Given the description of an element on the screen output the (x, y) to click on. 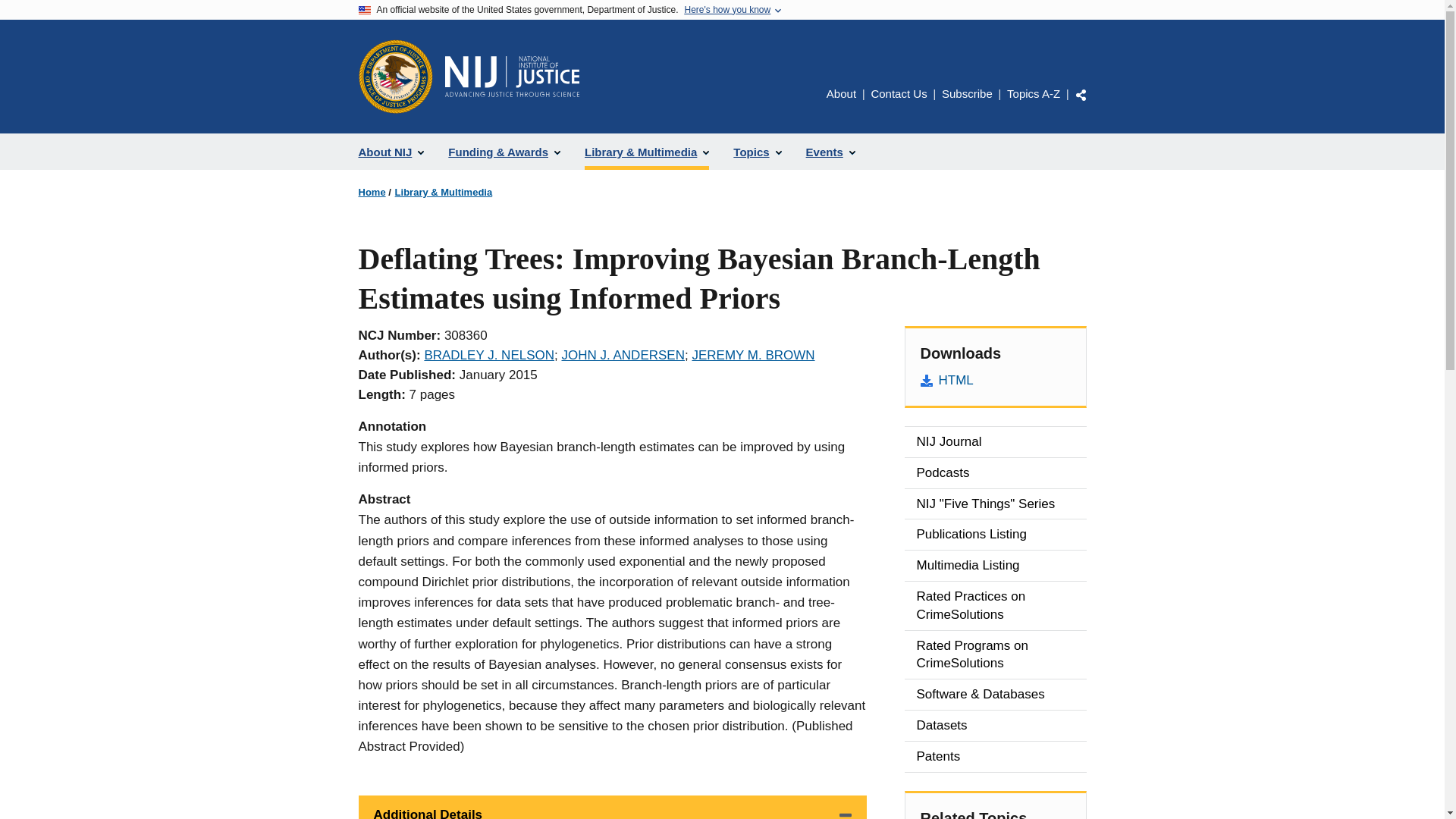
Publications Listing (995, 534)
Datasets (995, 725)
Multimedia Listing (995, 565)
About NIJ (390, 151)
Share (1080, 94)
Events (830, 151)
Home (371, 192)
Subscribe (967, 93)
JEREMY M. BROWN (752, 355)
Patents (995, 757)
Rated Programs on CrimeSolutions (995, 654)
Choose a social sharing platform (1080, 94)
Podcasts (995, 472)
HTML (995, 380)
Additional Details (612, 807)
